Given the description of an element on the screen output the (x, y) to click on. 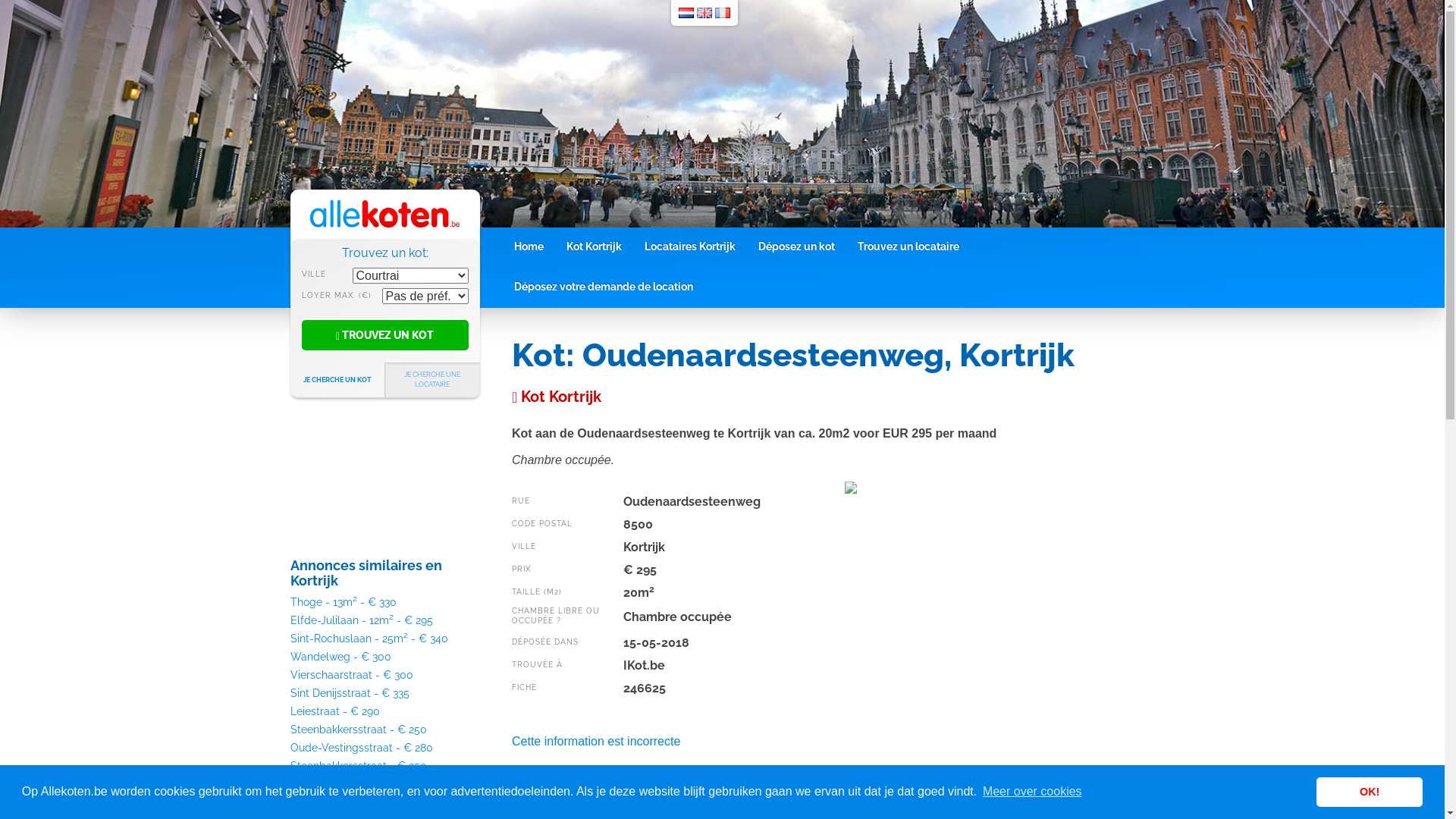
Kot Kortrijk Element type: text (556, 396)
Meer over cookies Element type: text (1032, 791)
Allekoten.be Element type: hover (385, 212)
Trouvez un locataire Element type: text (908, 246)
OK! Element type: text (1369, 791)
Kot Kortrijk Element type: text (594, 246)
English Element type: hover (704, 12)
Cette information est incorrecte Element type: text (595, 740)
Nederlands Element type: hover (685, 12)
Locataires Kortrijk Element type: text (689, 246)
Home Element type: text (528, 246)
